Given the description of an element on the screen output the (x, y) to click on. 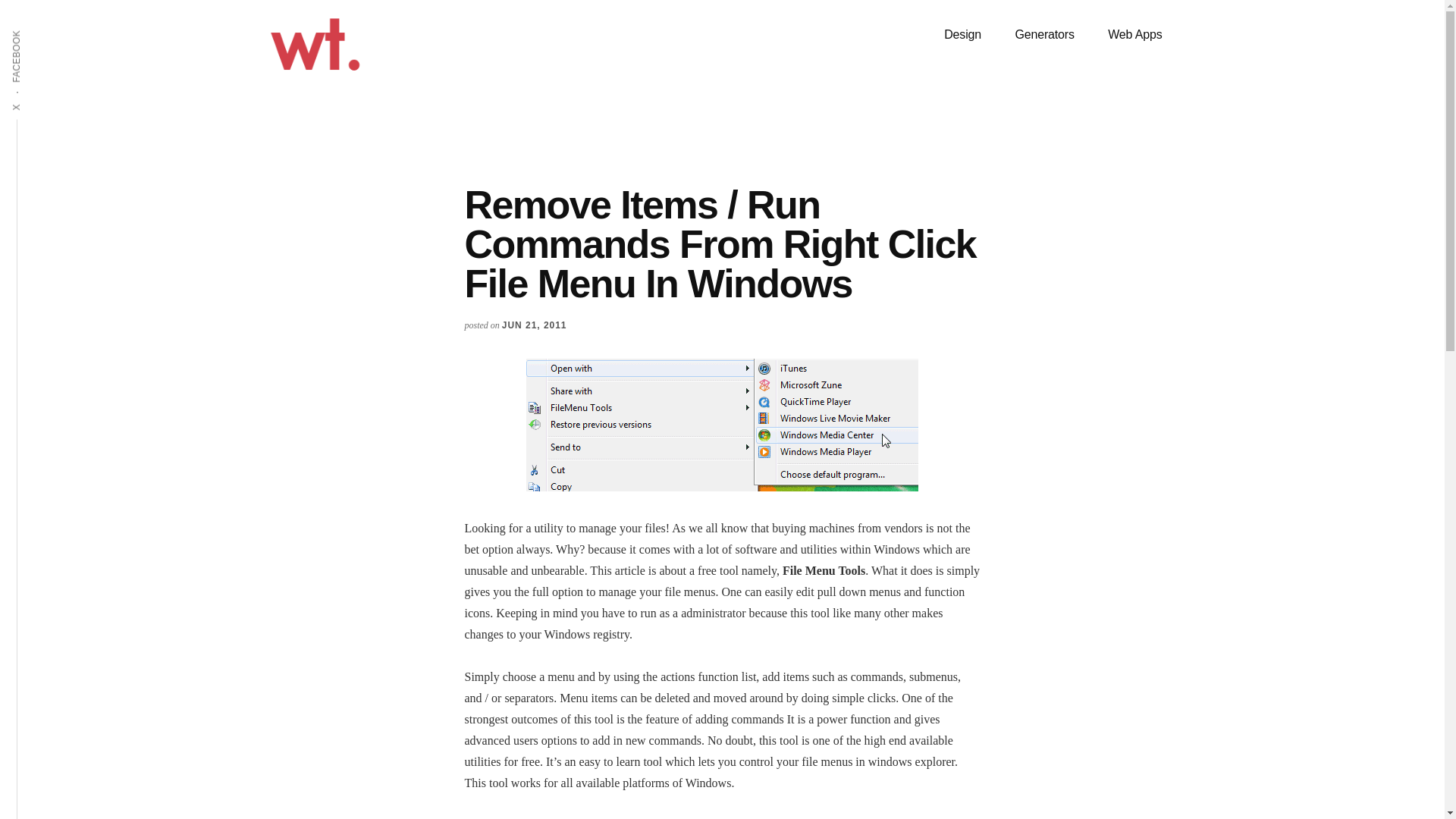
FACEBOOK (44, 28)
X (20, 102)
Design (961, 34)
cleanup-right-click-menu-wow-techy (721, 424)
Web Apps (1134, 34)
Generators (1043, 34)
